Given the description of an element on the screen output the (x, y) to click on. 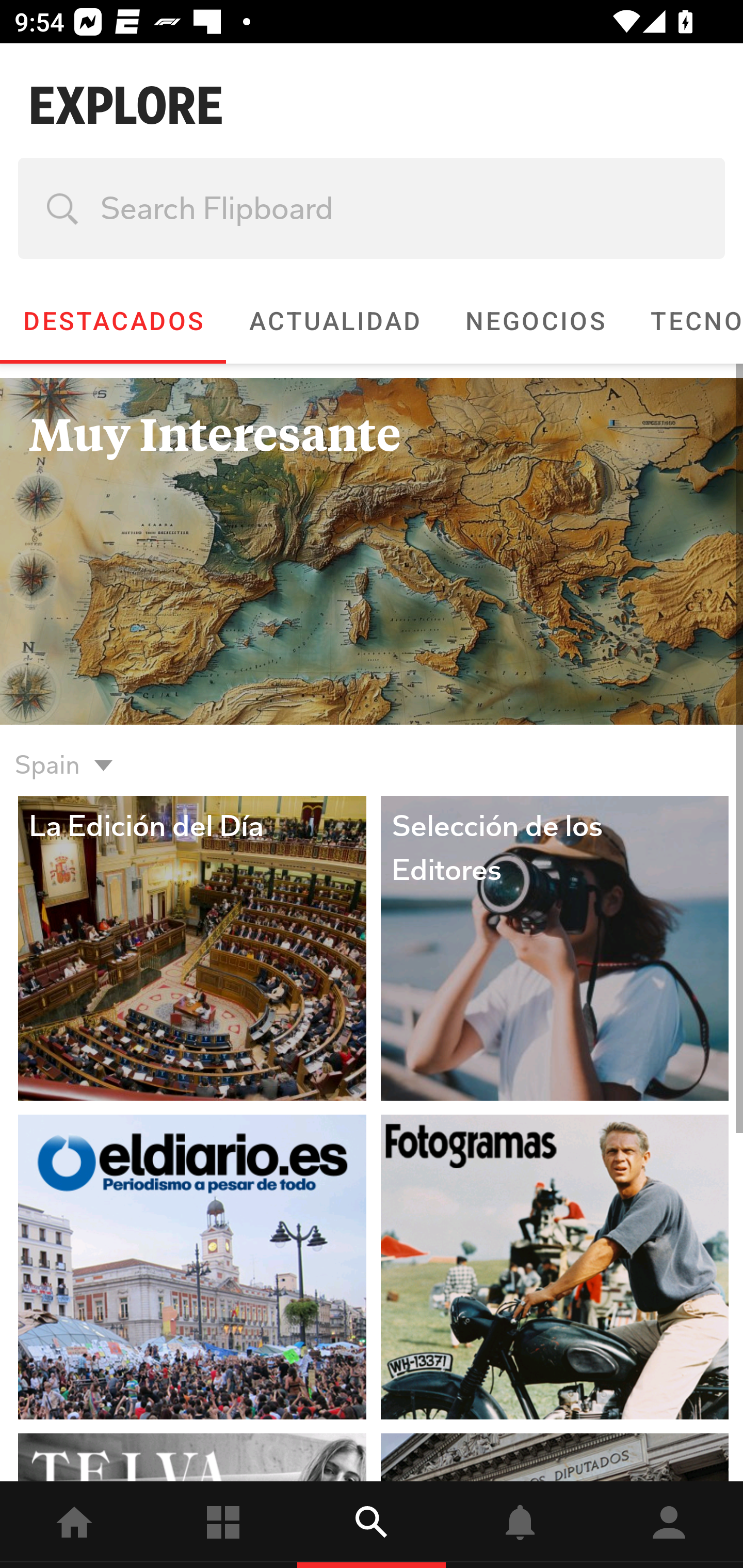
Search Flipboard (371, 208)
Actualidad ACTUALIDAD (333, 320)
Negocios NEGOCIOS (534, 320)
Tecnología & Ciencia TECNOLOGÍA & CIENCIA (685, 320)
Spain (371, 753)
home (74, 1524)
Following (222, 1524)
explore (371, 1524)
Notifications (519, 1524)
Profile (668, 1524)
